Given the description of an element on the screen output the (x, y) to click on. 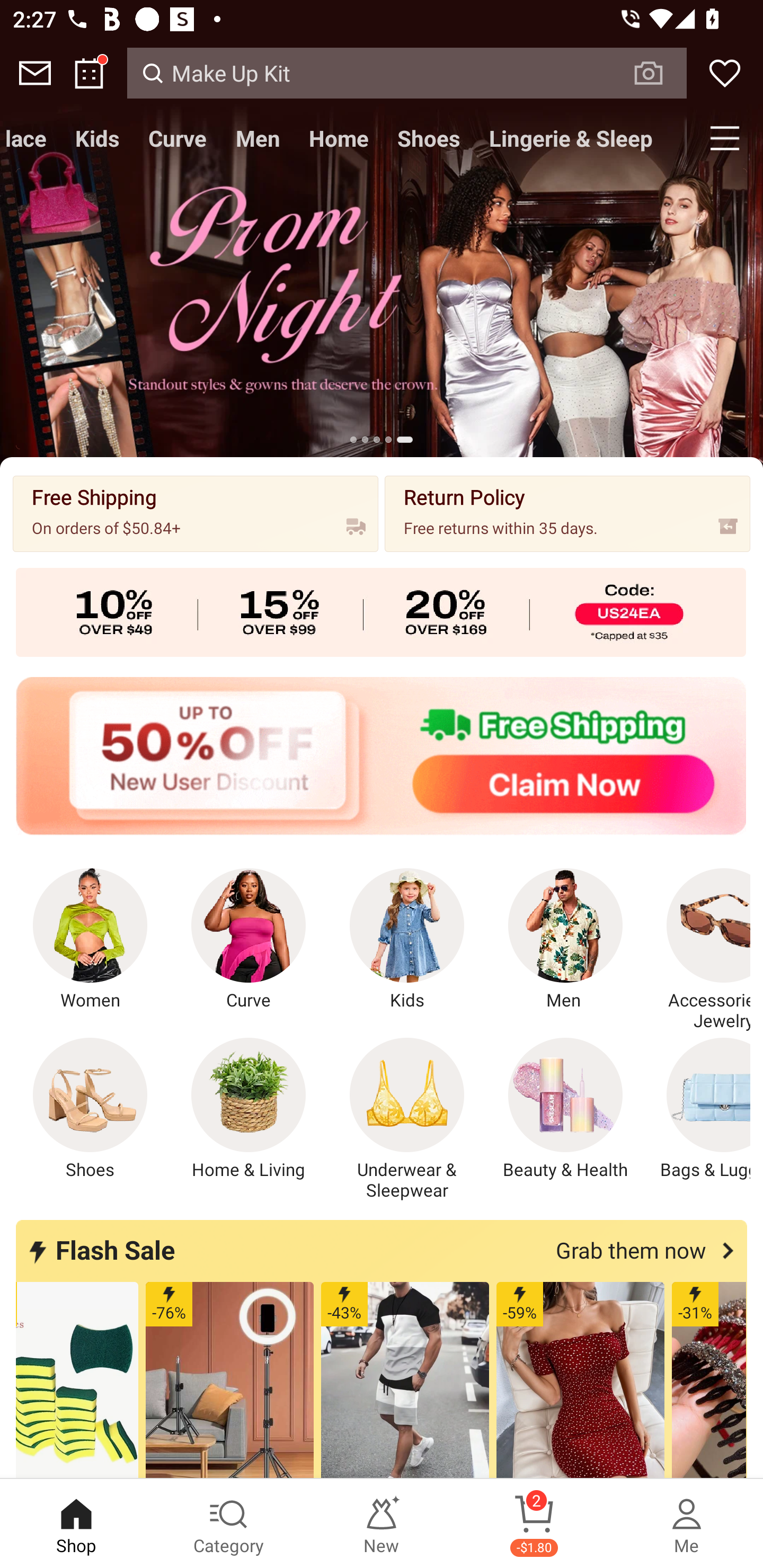
Wishlist (724, 72)
VISUAL SEARCH (657, 72)
Marketplace (30, 137)
Kids (97, 137)
Curve (177, 137)
Men (257, 137)
Home (338, 137)
Shoes (428, 137)
Lingerie & Sleep (570, 137)
Free Shipping On orders of $50.84+ (195, 513)
Return Policy Free returns within 35 days. (567, 513)
Women (89, 939)
Curve (248, 939)
Kids (406, 939)
Men  (565, 939)
Accessories & Jewelry (698, 949)
Shoes (89, 1109)
Home & Living (248, 1109)
Underwear & Sleepwear (406, 1119)
Beauty & Health (565, 1109)
Bags & Luggage (698, 1109)
Category (228, 1523)
New (381, 1523)
Cart 2 -$1.80 (533, 1523)
Me (686, 1523)
